Given the description of an element on the screen output the (x, y) to click on. 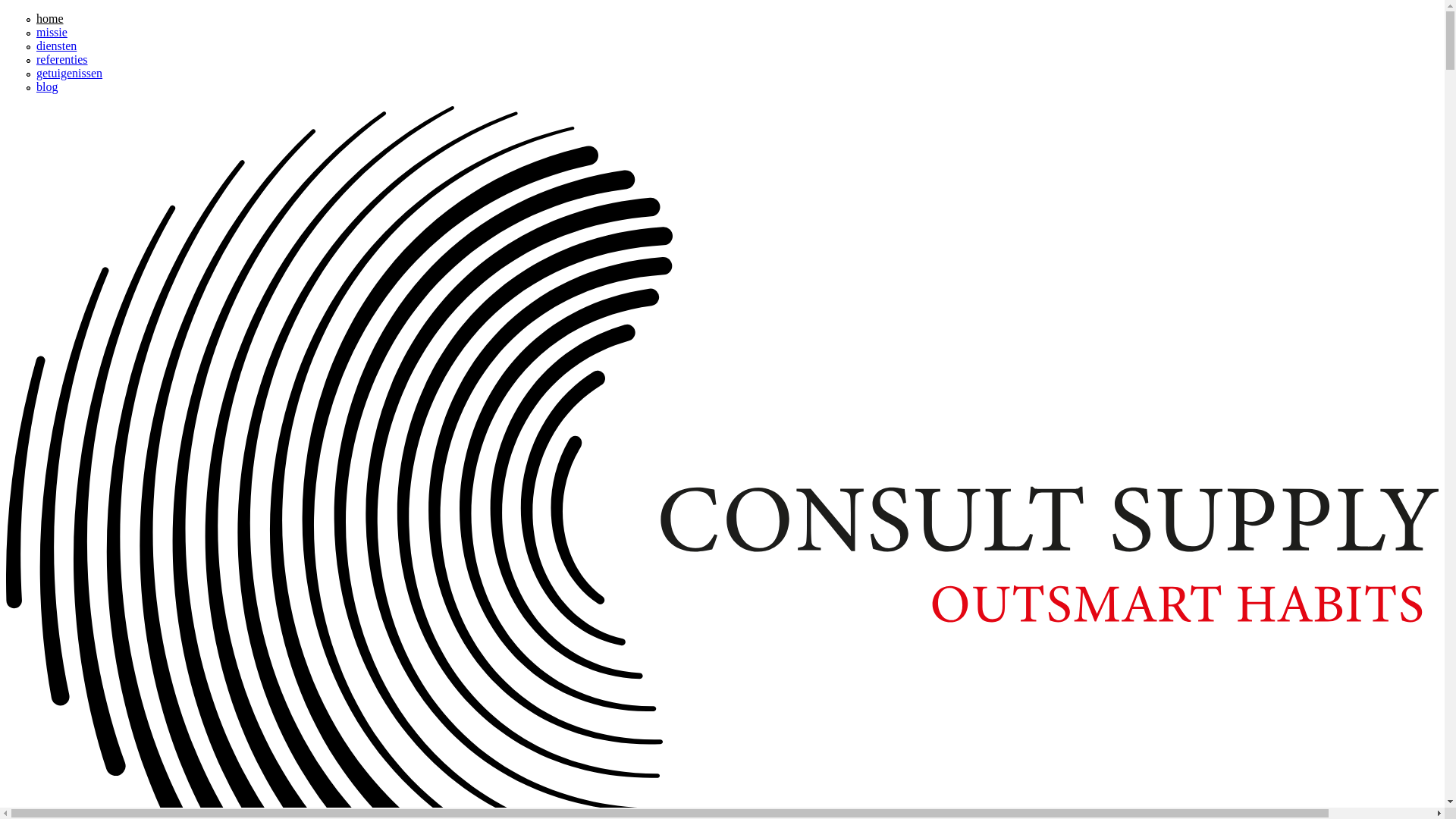
blog Element type: text (46, 86)
Overslaan en naar de inhoud gaan Element type: text (88, 12)
referenties Element type: text (61, 59)
home Element type: text (49, 18)
getuigenissen Element type: text (69, 72)
missie Element type: text (51, 31)
diensten Element type: text (56, 45)
